Given the description of an element on the screen output the (x, y) to click on. 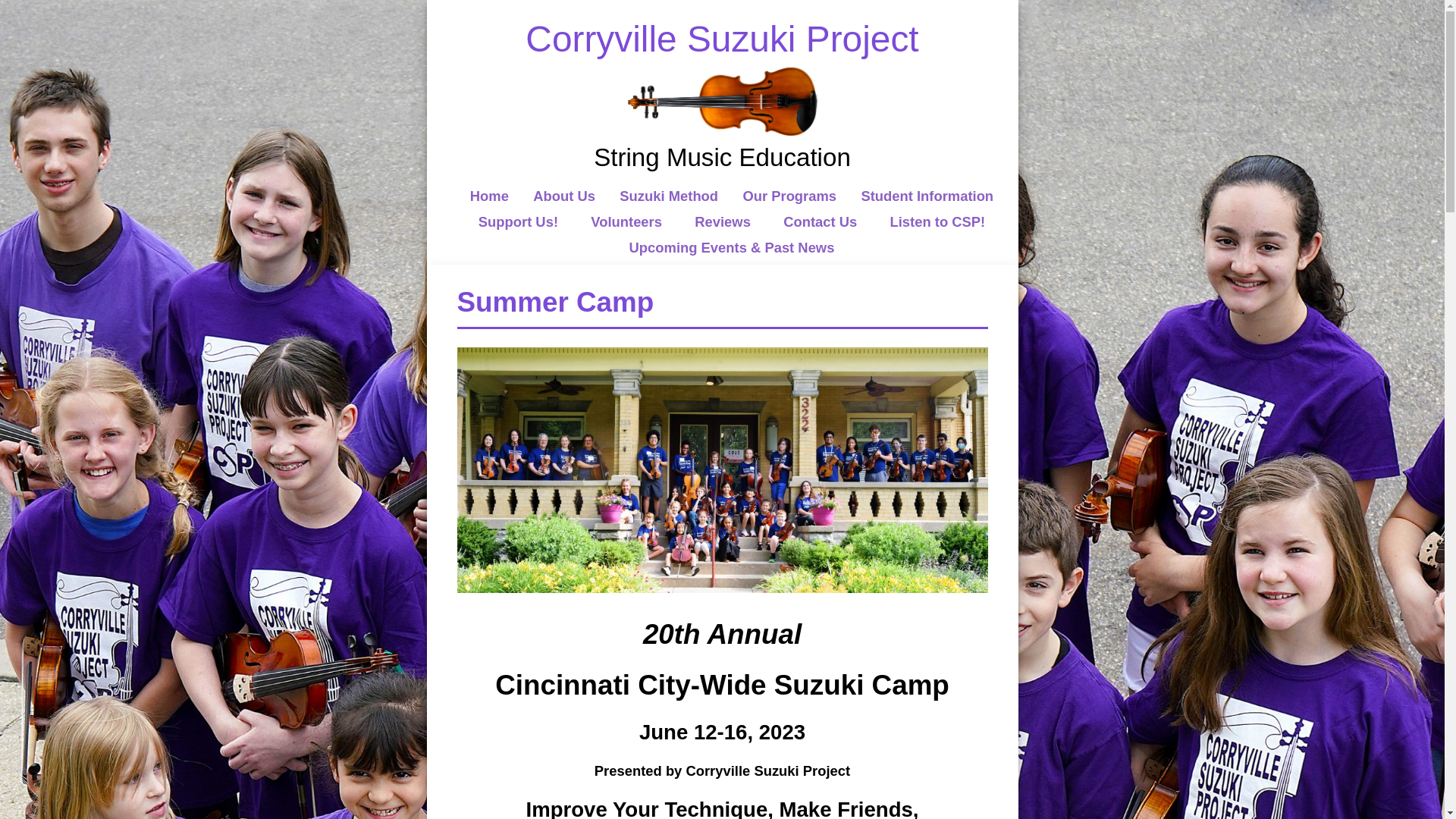
Home (489, 195)
Volunteers (626, 221)
Our Programs (788, 195)
Corryville Suzuki Project (721, 38)
Listen to CSP! (937, 221)
Suzuki Method (668, 195)
Contact Us (820, 221)
Student Information (926, 195)
About Us (563, 195)
Support Us! (518, 221)
Reviews (722, 221)
Corryville Suzuki Project (721, 38)
